Given the description of an element on the screen output the (x, y) to click on. 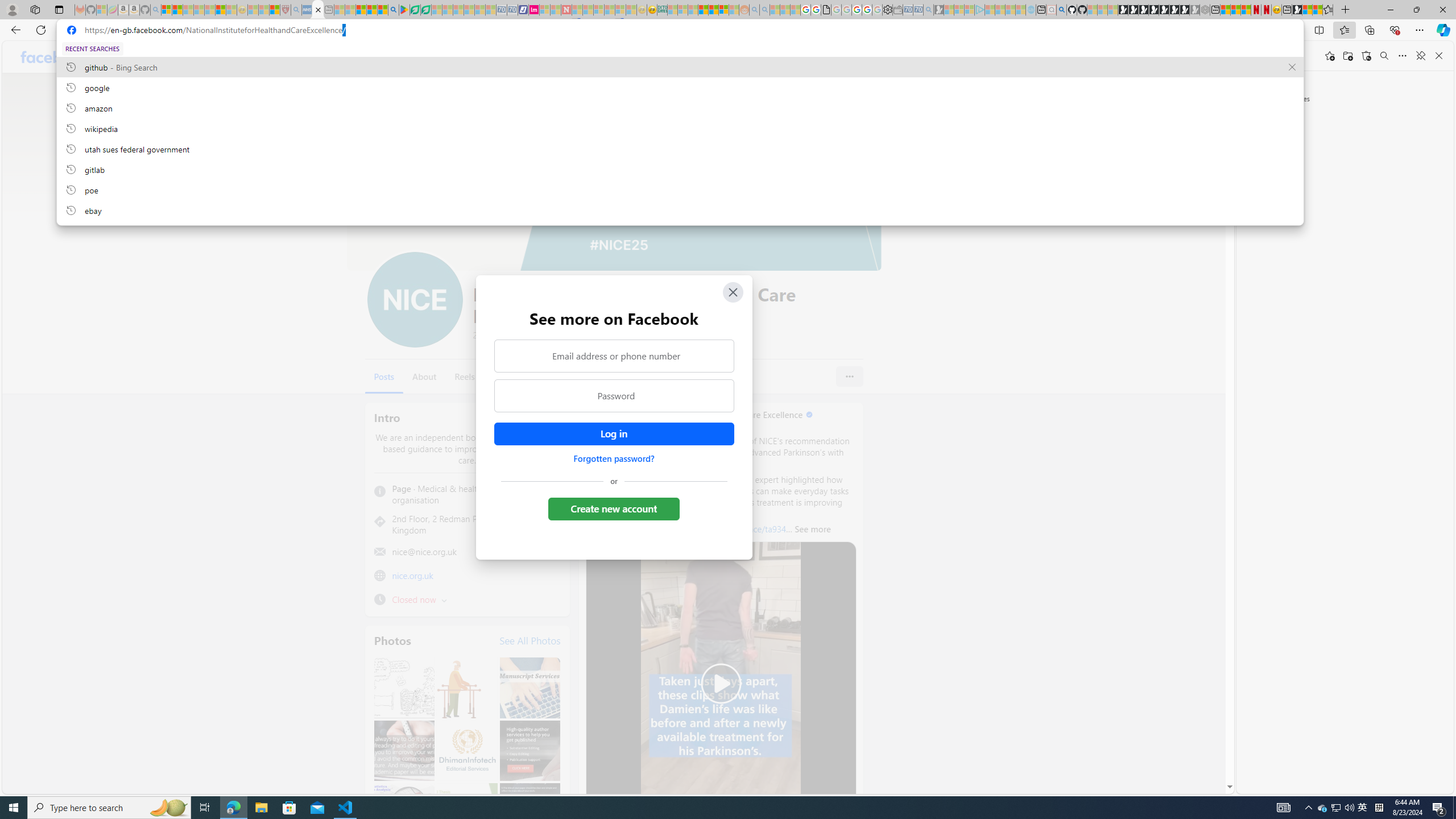
utah sues federal government, recent searches from history (679, 148)
New Report Confirms 2023 Was Record Hot | Watch - Sleeping (209, 9)
Kinda Frugal - MSN (713, 9)
